Given the description of an element on the screen output the (x, y) to click on. 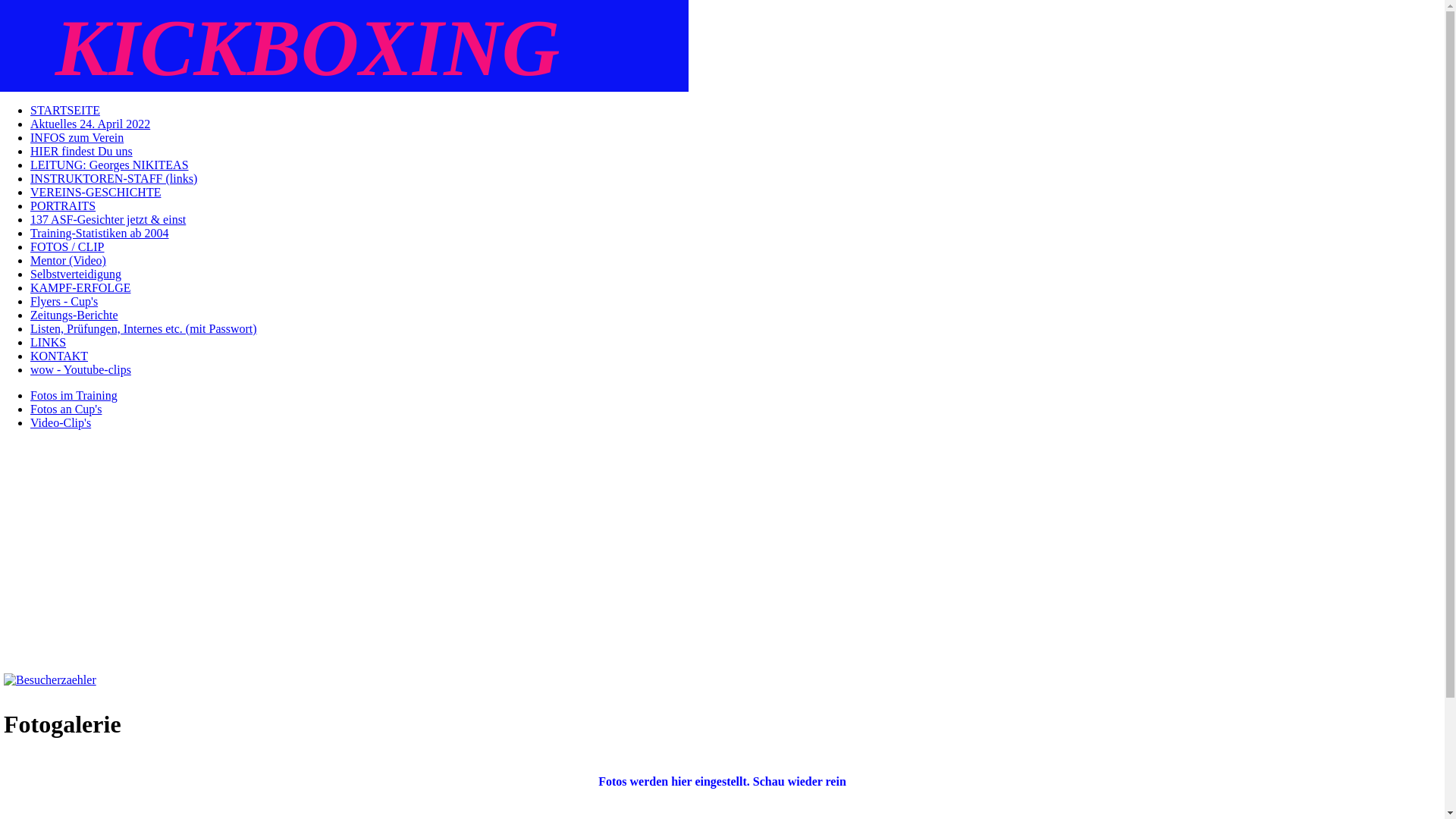
137 ASF-Gesichter jetzt & einst Element type: text (107, 219)
STARTSEITE Element type: text (65, 109)
INFOS zum Verein Element type: text (76, 137)
Video-Clip's Element type: text (60, 422)
FOTOS / CLIP Element type: text (67, 246)
Selbstverteidigung Element type: text (75, 273)
Mentor (Video) Element type: text (68, 260)
Aktuelles 24. April 2022 Element type: text (90, 123)
PORTRAITS Element type: text (62, 205)
LINKS Element type: text (47, 341)
Besucherzaehler Element type: hover (49, 679)
Training-Statistiken ab 2004 Element type: text (99, 232)
Zeitungs-Berichte Element type: text (74, 314)
KONTAKT Element type: text (58, 355)
KAMPF-ERFOLGE Element type: text (80, 287)
HIER findest Du uns Element type: text (81, 150)
LEITUNG: Georges NIKITEAS Element type: text (109, 164)
Fotos an Cup's Element type: text (65, 408)
Flyers - Cup's Element type: text (63, 300)
VEREINS-GESCHICHTE Element type: text (95, 191)
wow - Youtube-clips Element type: text (80, 369)
Fotos im Training Element type: text (73, 395)
INSTRUKTOREN-STAFF (links) Element type: text (113, 178)
